Given the description of an element on the screen output the (x, y) to click on. 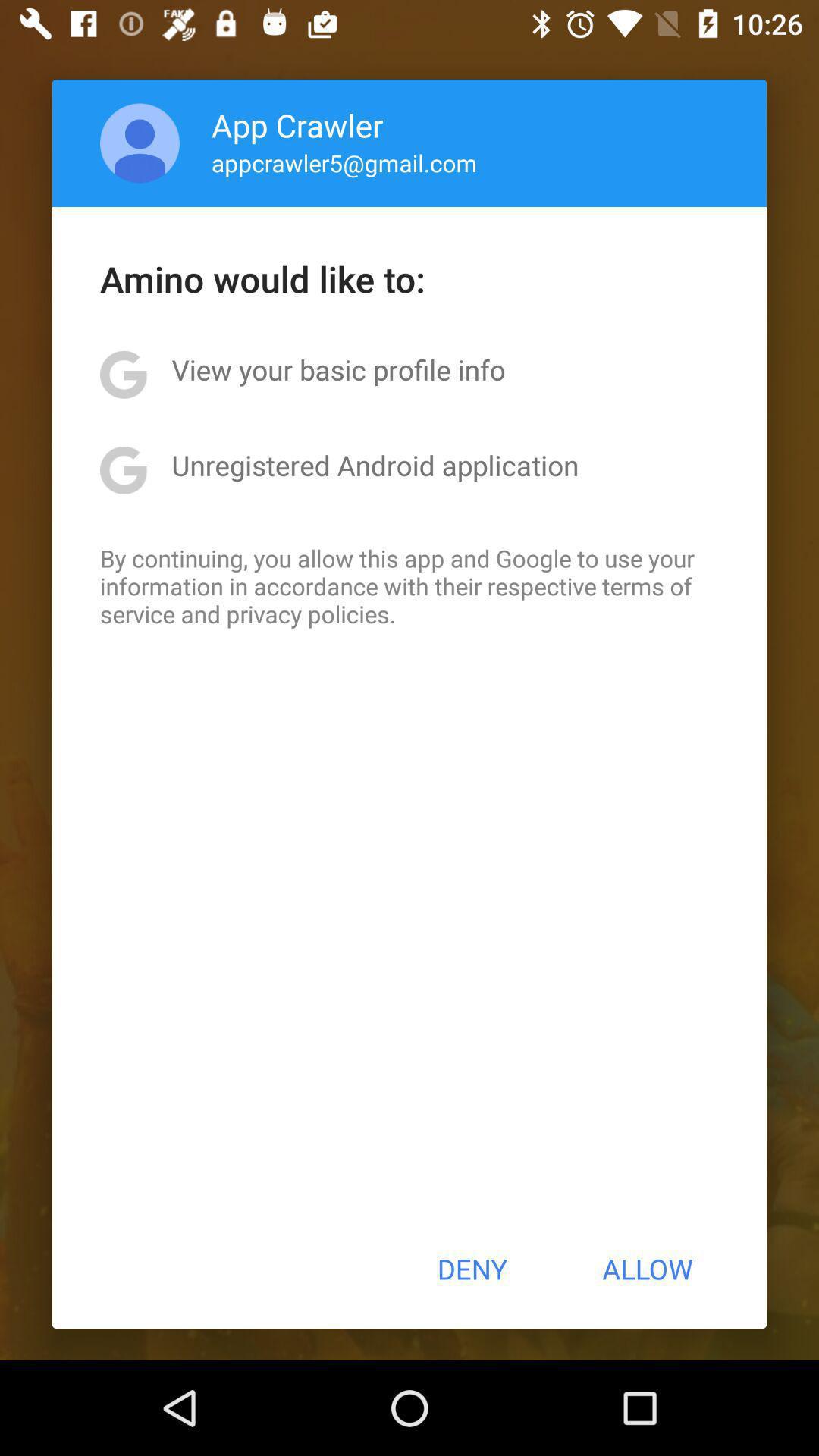
tap item above unregistered android application icon (338, 369)
